Given the description of an element on the screen output the (x, y) to click on. 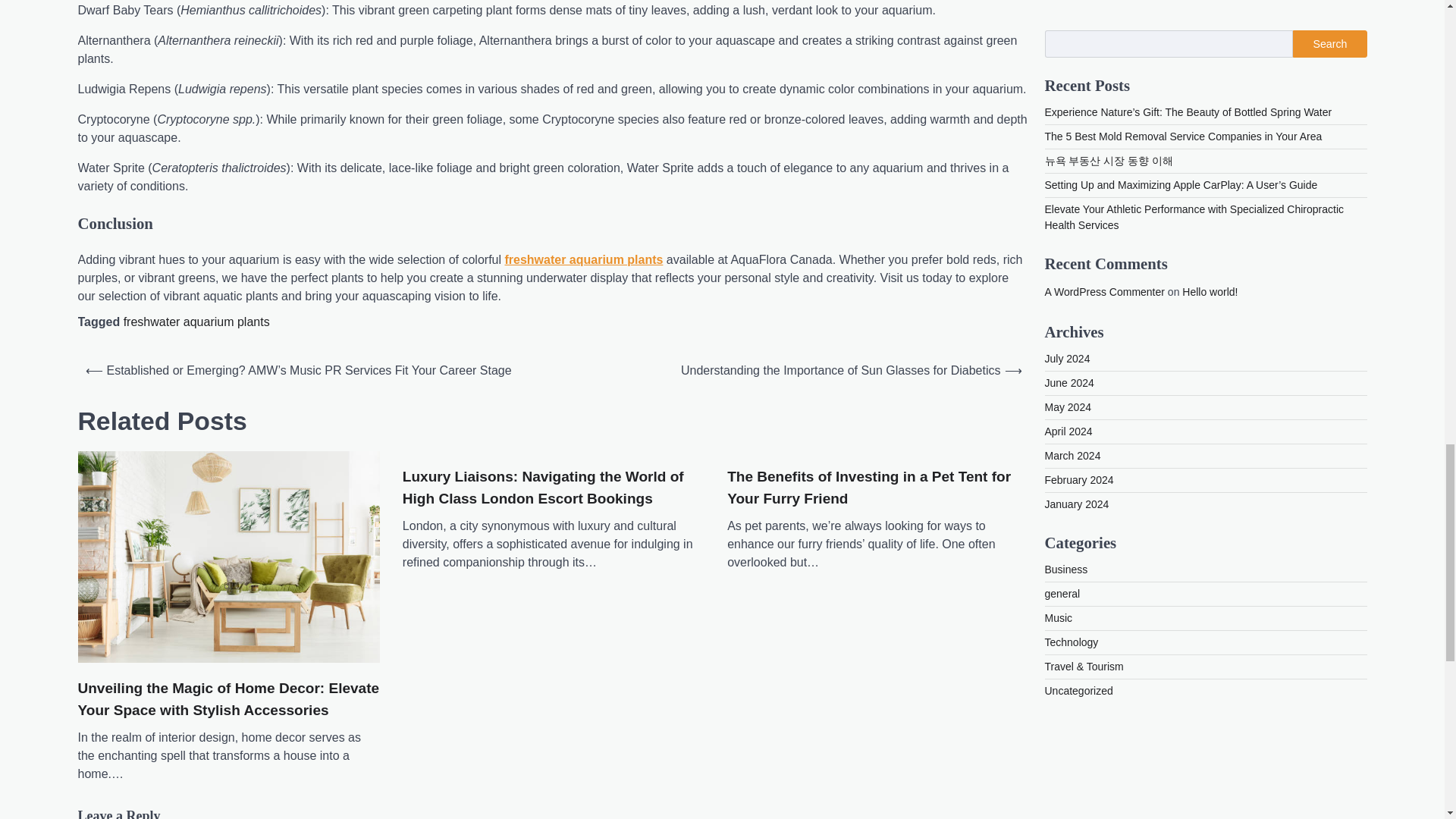
freshwater aquarium plants (582, 259)
freshwater aquarium plants (196, 321)
